Given the description of an element on the screen output the (x, y) to click on. 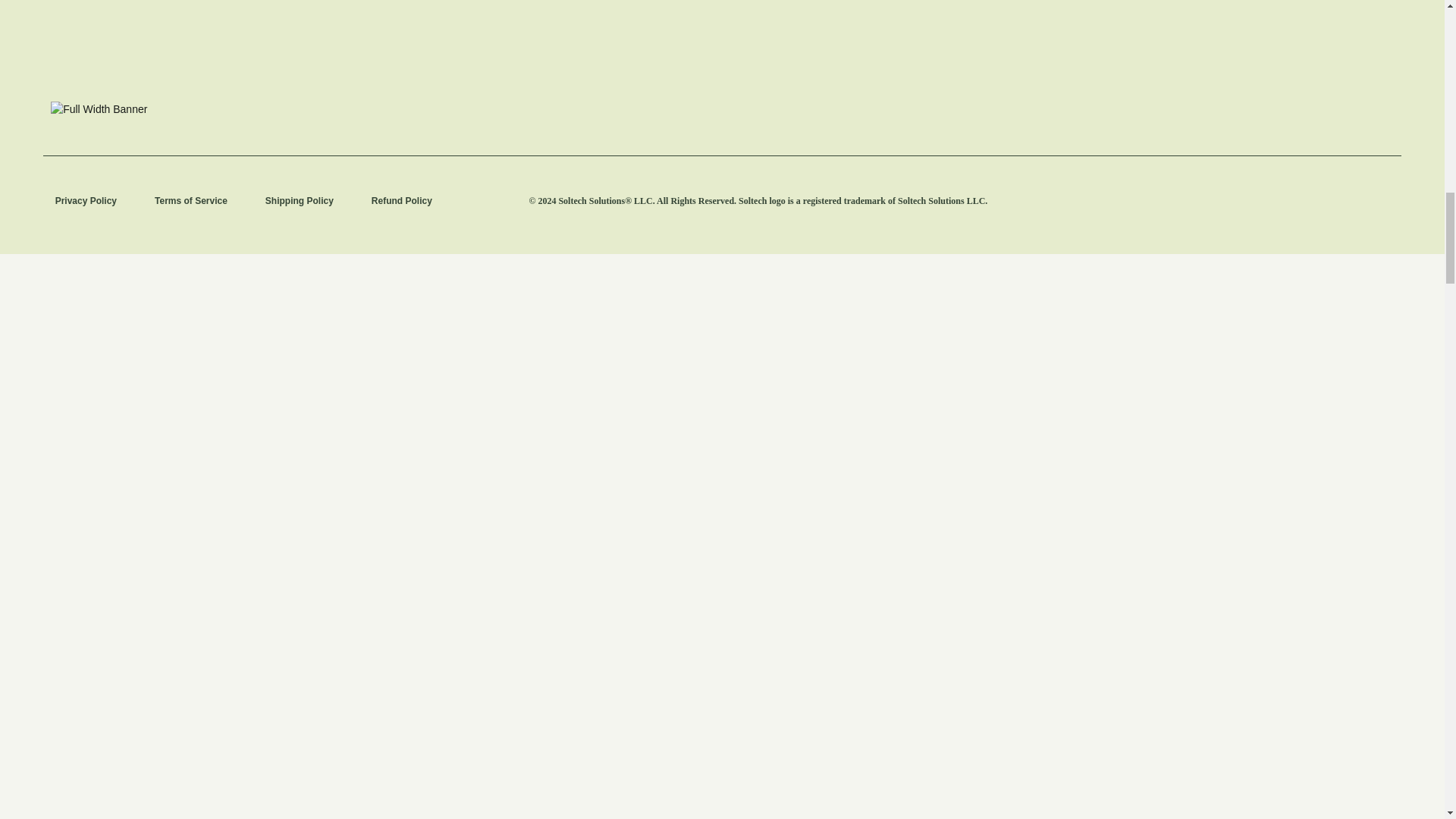
Soltech (453, 25)
